Given the description of an element on the screen output the (x, y) to click on. 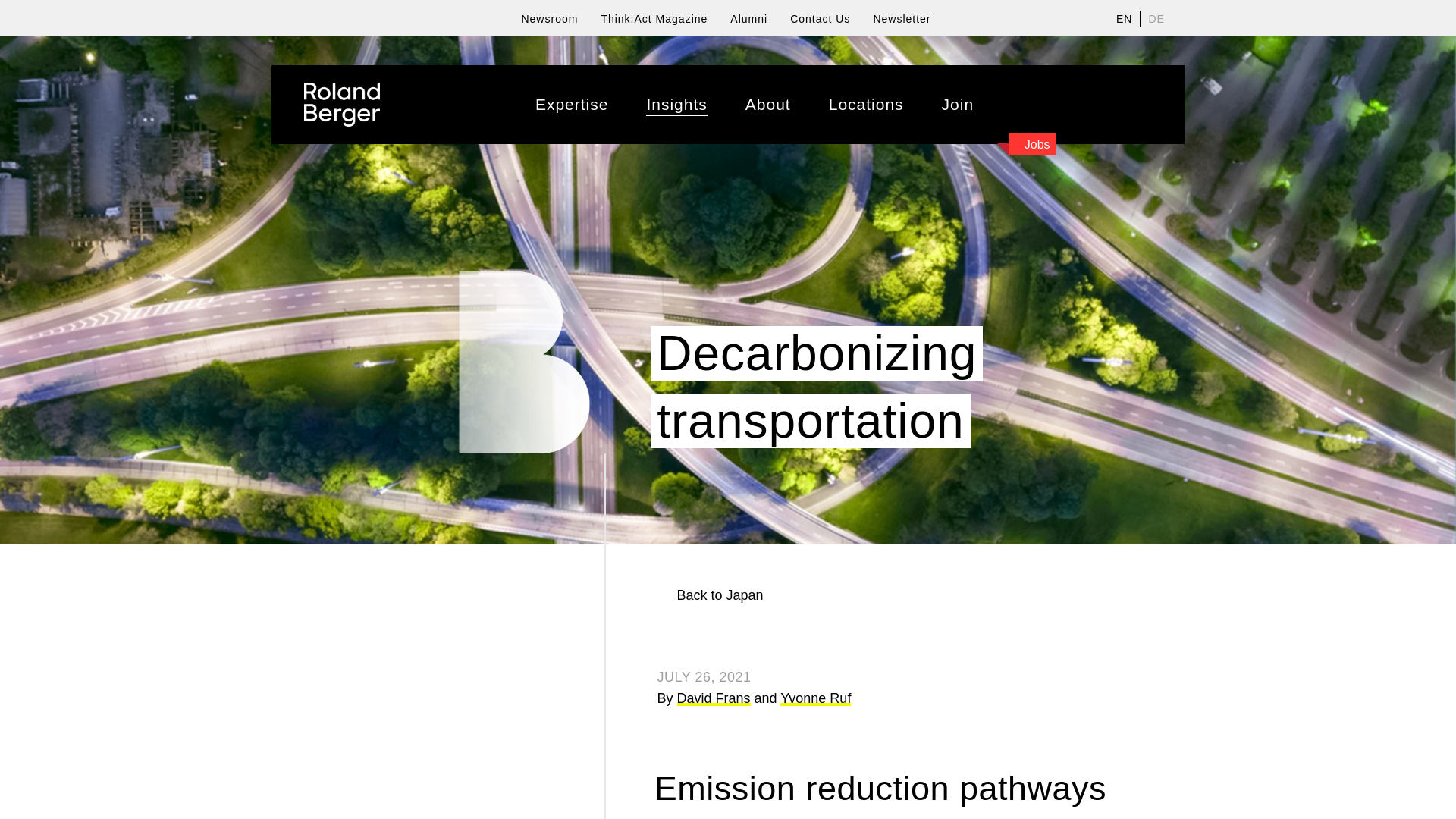
Roland Berger (342, 104)
Insights (676, 105)
Expertise (571, 105)
Locations (866, 105)
About (767, 105)
Expertise (571, 105)
Join (958, 105)
